Given the description of an element on the screen output the (x, y) to click on. 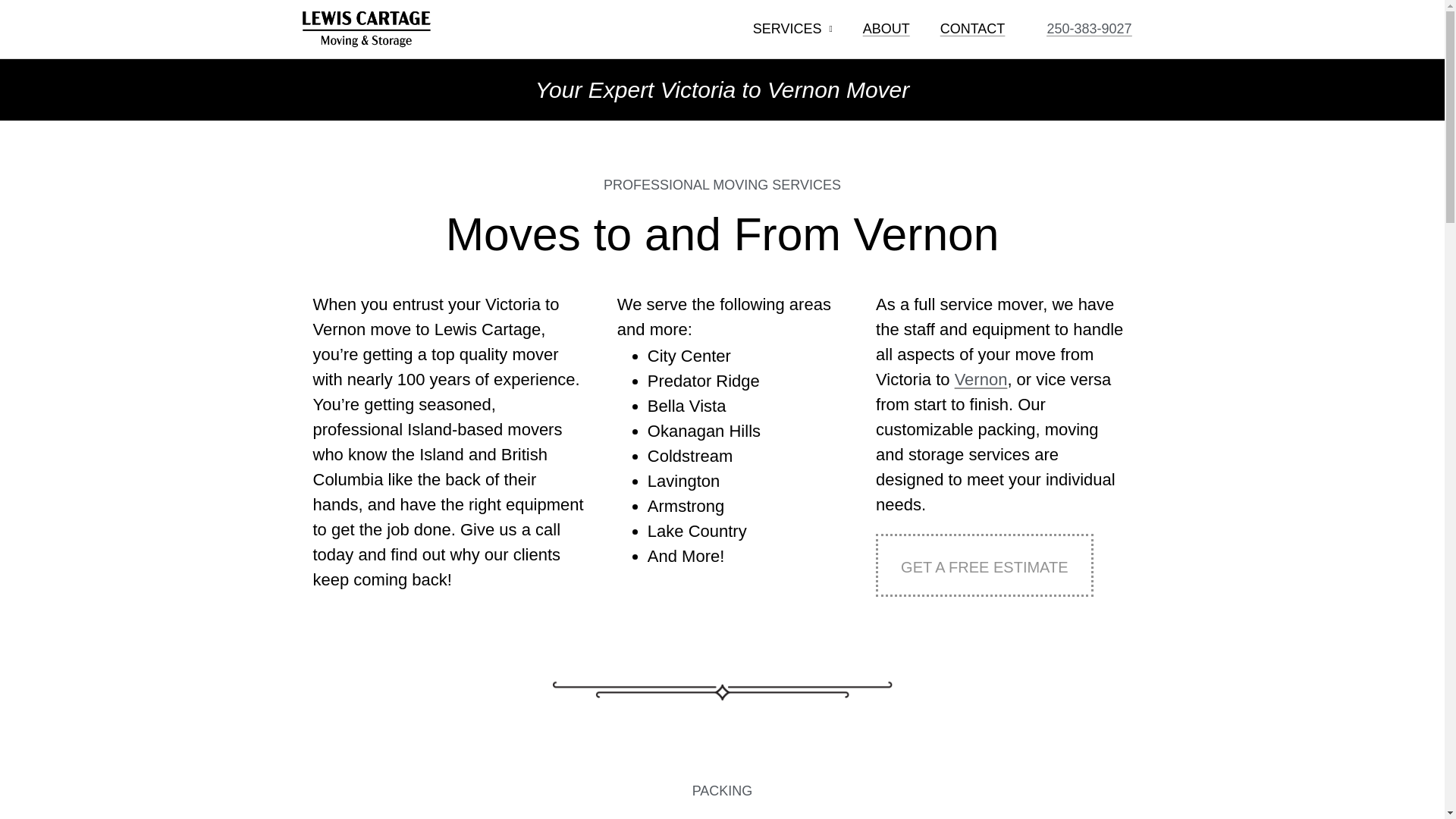
CONTACT (972, 29)
SERVICES (792, 29)
ABOUT (885, 29)
250-383-9027 (1088, 29)
